Given the description of an element on the screen output the (x, y) to click on. 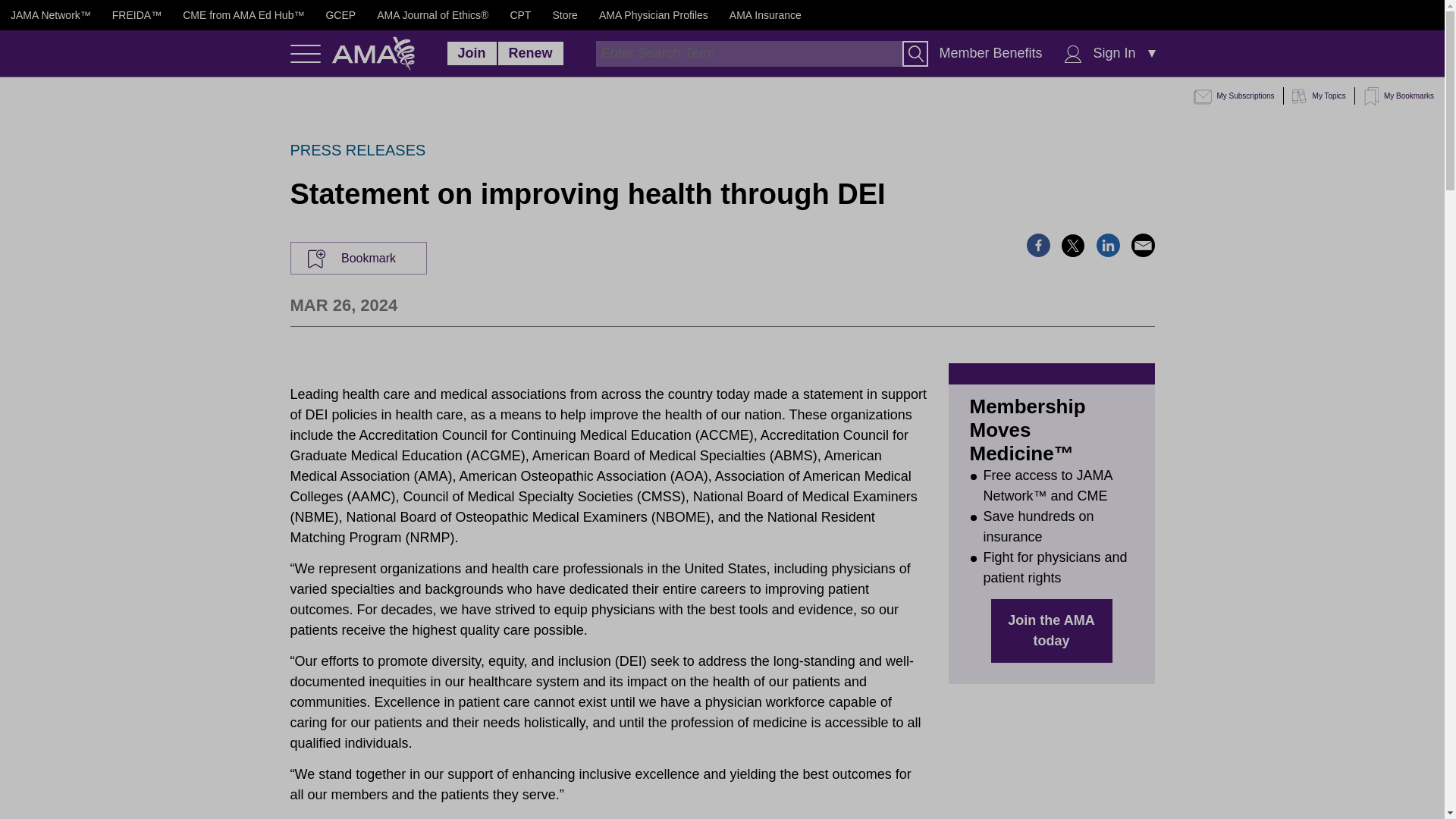
Store (563, 15)
AMA Insurance (765, 15)
CPT (520, 15)
AMA Physician Profiles (652, 15)
Member Benefits (990, 52)
Sign In (1115, 53)
GCEP (339, 15)
Join the AMA today (1051, 630)
Search (915, 53)
